Given the description of an element on the screen output the (x, y) to click on. 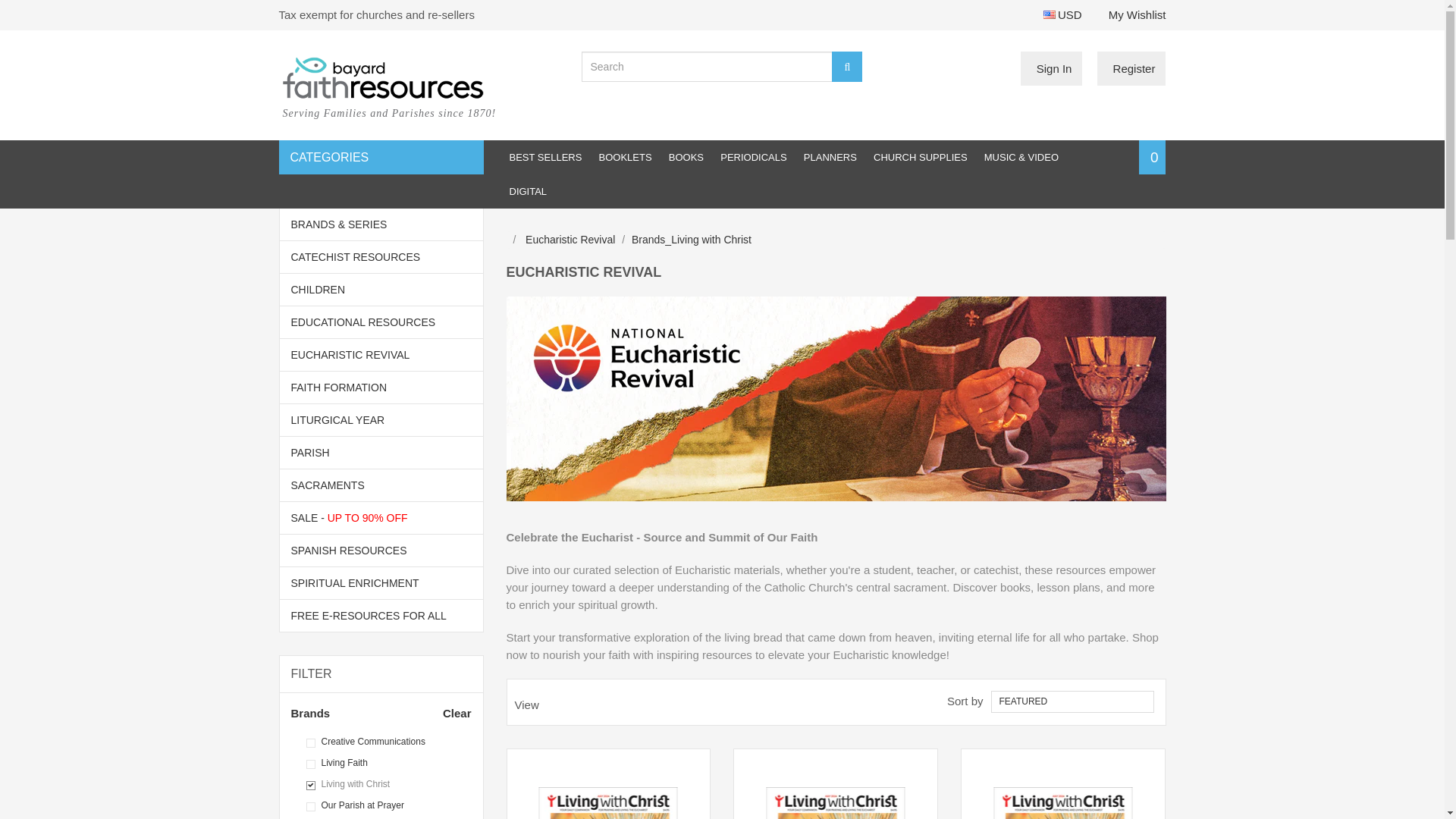
Login (1051, 68)
Bayard Faith Resources (419, 97)
My Wishlist (1137, 14)
